Given the description of an element on the screen output the (x, y) to click on. 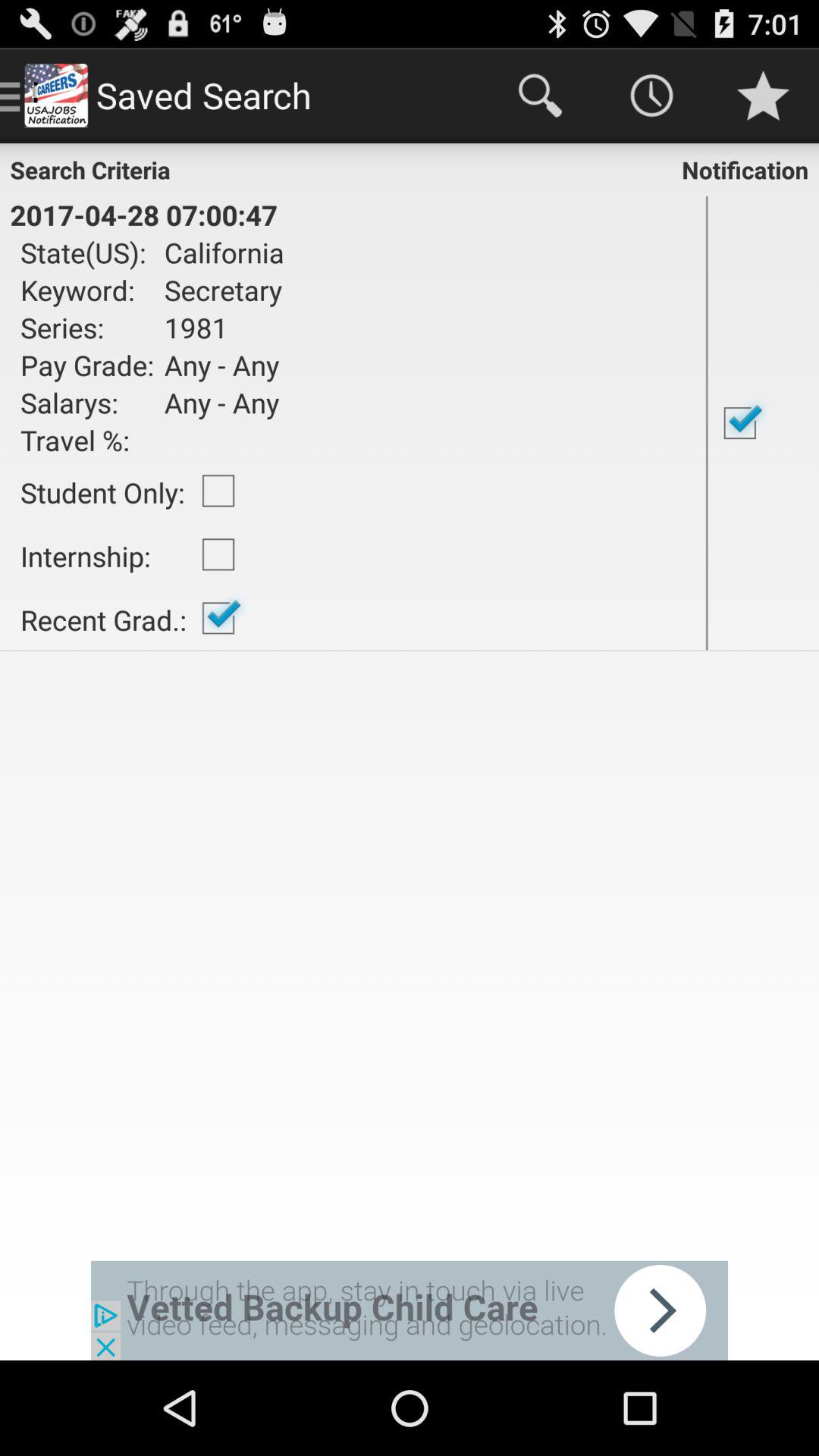
click button (409, 1310)
